Given the description of an element on the screen output the (x, y) to click on. 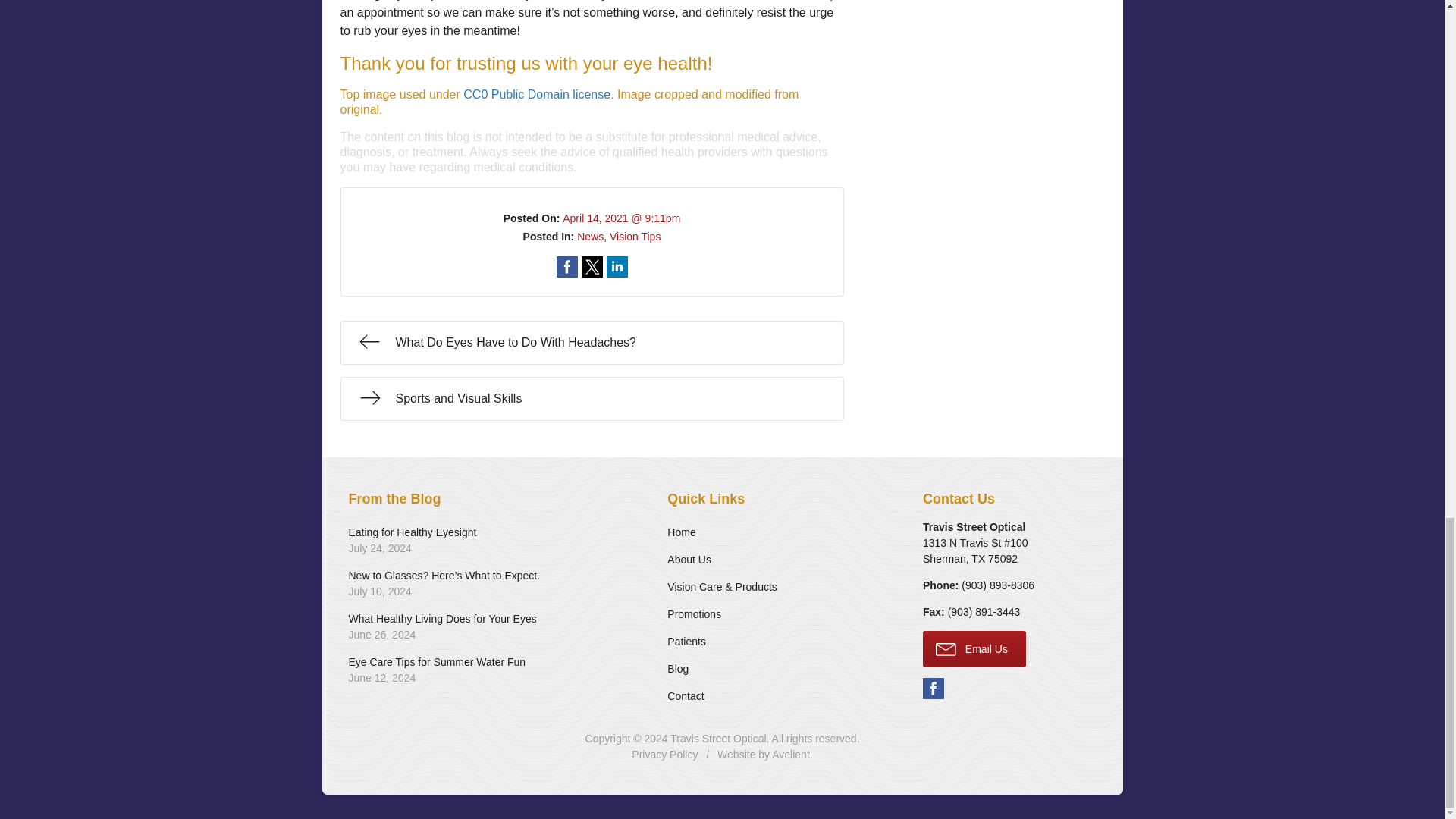
Go to our Facebook Page (488, 627)
Contact practice (933, 688)
Share on Facebook (996, 585)
Share on Facebook (567, 266)
Share on Twitter (567, 266)
Vision Tips (591, 266)
Open this address in Google Maps (635, 236)
Share on LinkedIn (975, 551)
Share on Twitter (617, 266)
What Do Eyes Have to Do With Headaches? (591, 266)
News (591, 342)
Share on LinkedIn (590, 236)
Powered by Avelient (617, 266)
CC0 Public Domain license (790, 754)
